Given the description of an element on the screen output the (x, y) to click on. 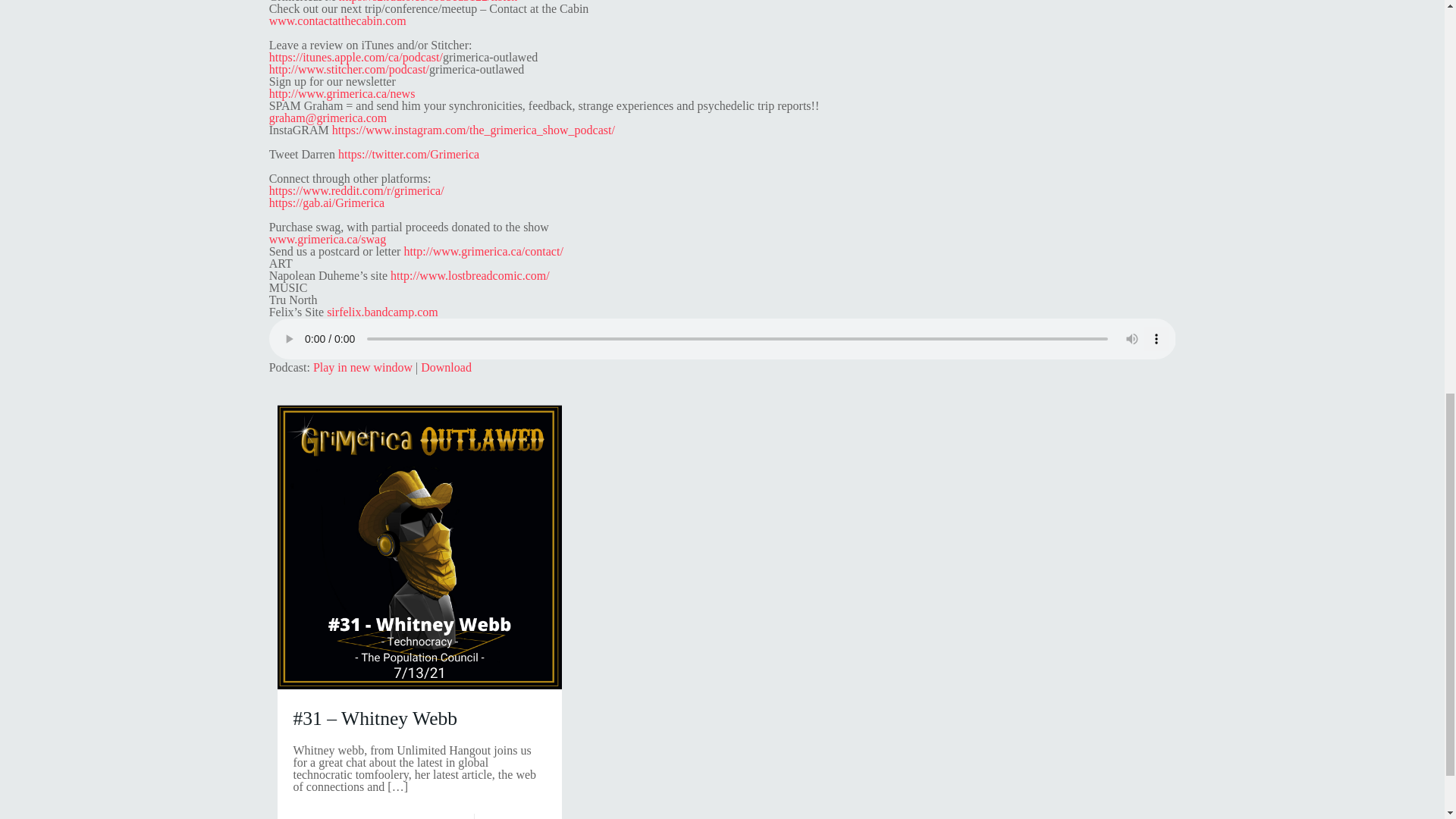
Download (445, 367)
www.contactatthecabin.com (337, 20)
Play in new window (362, 367)
